Given the description of an element on the screen output the (x, y) to click on. 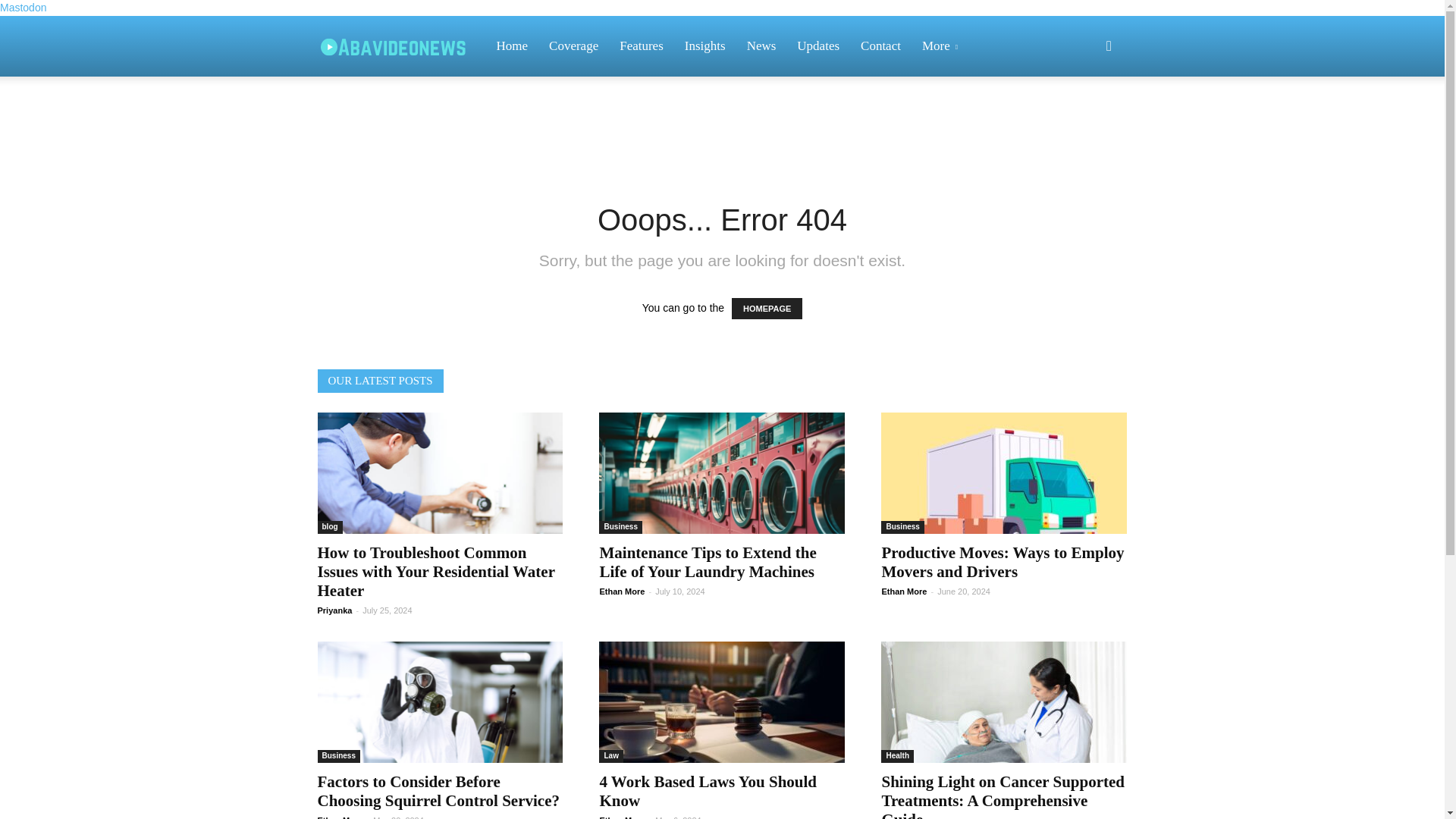
Updates (818, 45)
Search (1085, 119)
Advertisement (721, 128)
More (942, 45)
Maintenance Tips to Extend the Life of Your Laundry Machines (706, 561)
Contact (880, 45)
Insights (705, 45)
Maintenance Tips to Extend the Life of Your Laundry Machines (721, 472)
Productive Moves: Ways to Employ Movers and Drivers (1002, 561)
Productive Moves: Ways to Employ Movers and Drivers (1003, 472)
Coverage (573, 45)
ABA Video News (400, 45)
HOMEPAGE (767, 308)
